Given the description of an element on the screen output the (x, y) to click on. 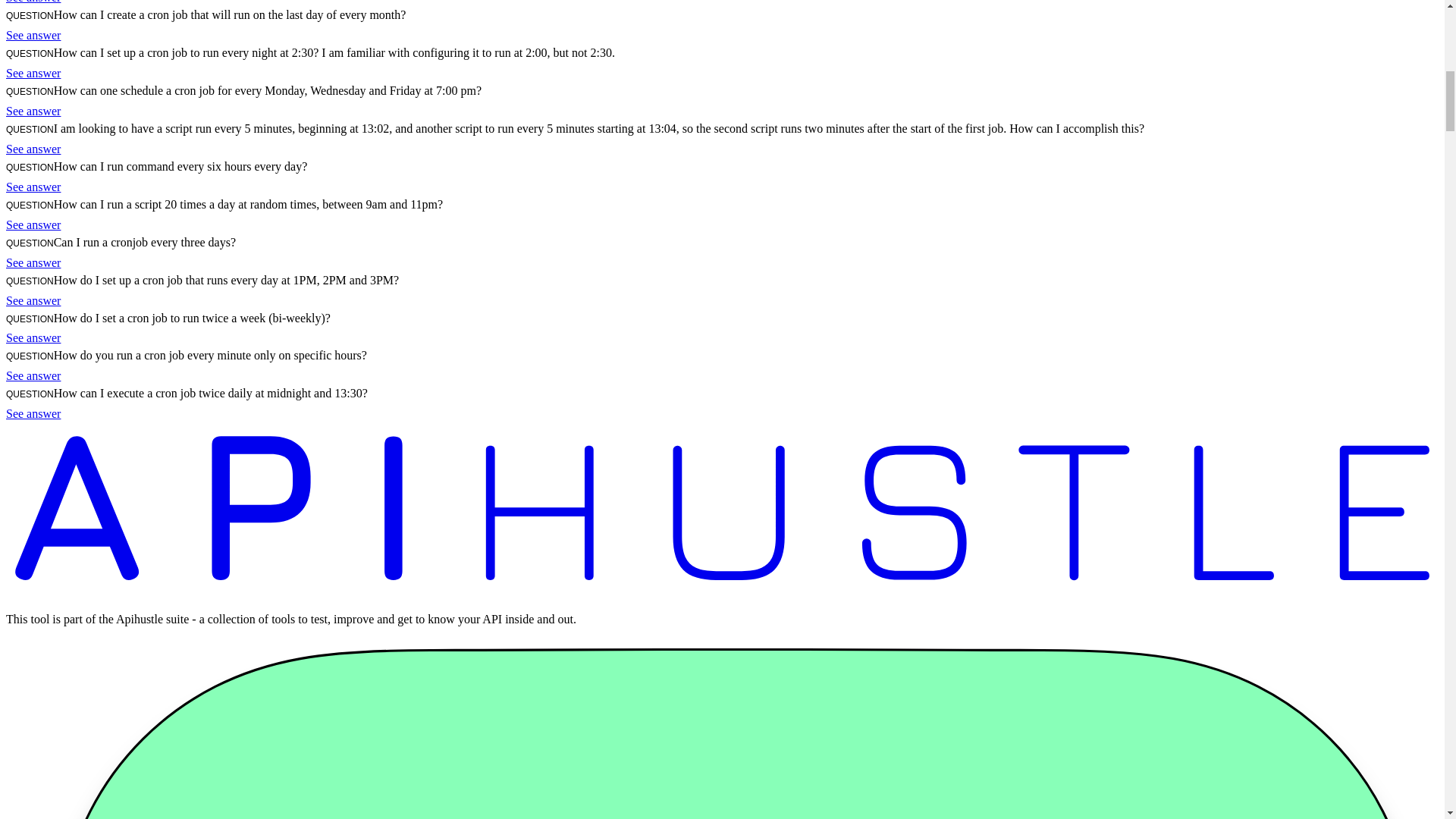
See answer (33, 262)
See answer (33, 224)
See answer (33, 148)
See answer (33, 413)
See answer (33, 375)
See answer (33, 72)
See answer (33, 300)
See answer (33, 337)
See answer (33, 110)
See answer (33, 34)
See answer (33, 186)
See answer (33, 2)
